Given the description of an element on the screen output the (x, y) to click on. 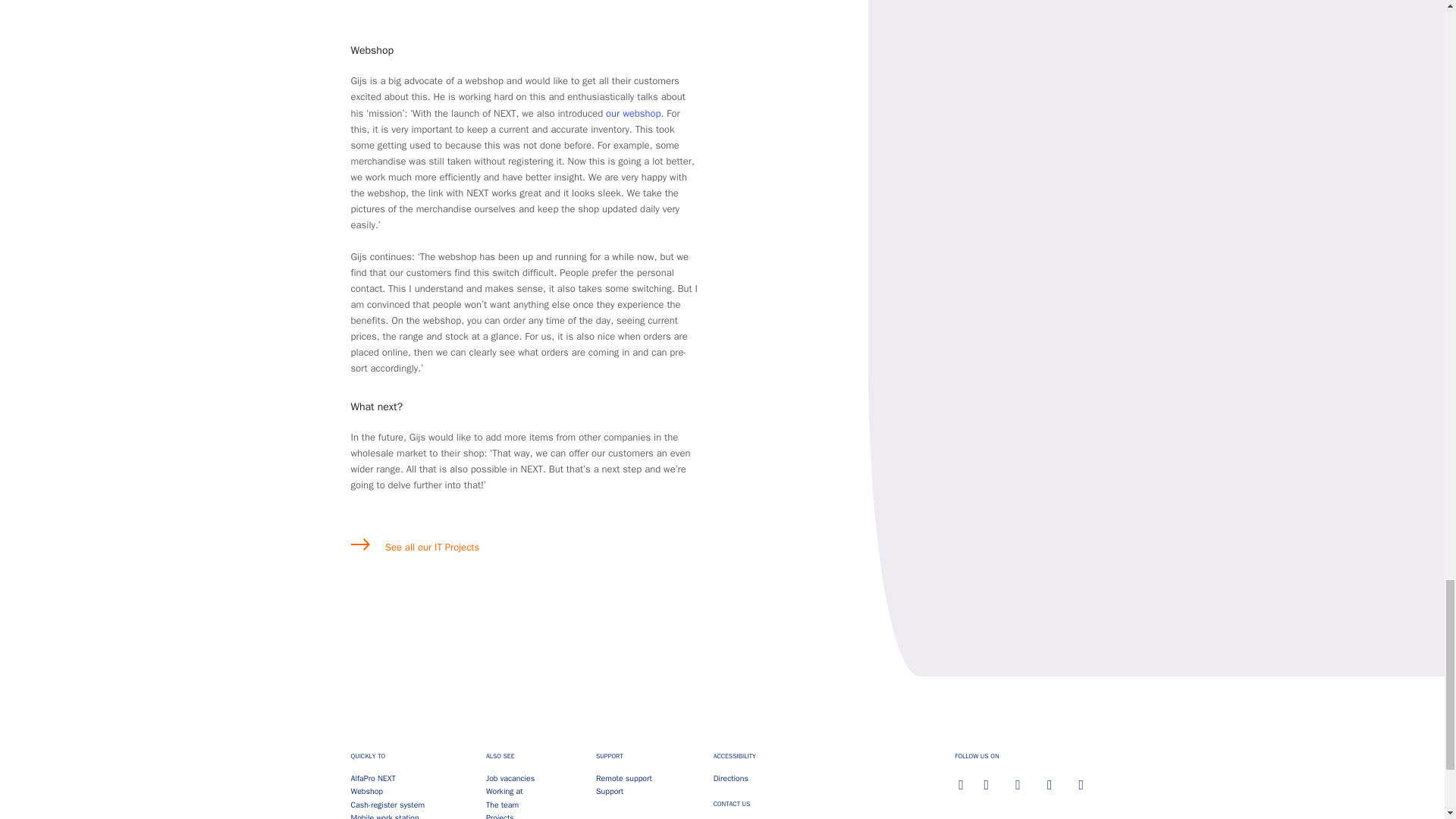
Youtube (1049, 784)
See all our IT Projects (414, 546)
RSS (1080, 784)
LinkedIn (1018, 784)
our webshop (633, 113)
Instagram (986, 784)
